Given the description of an element on the screen output the (x, y) to click on. 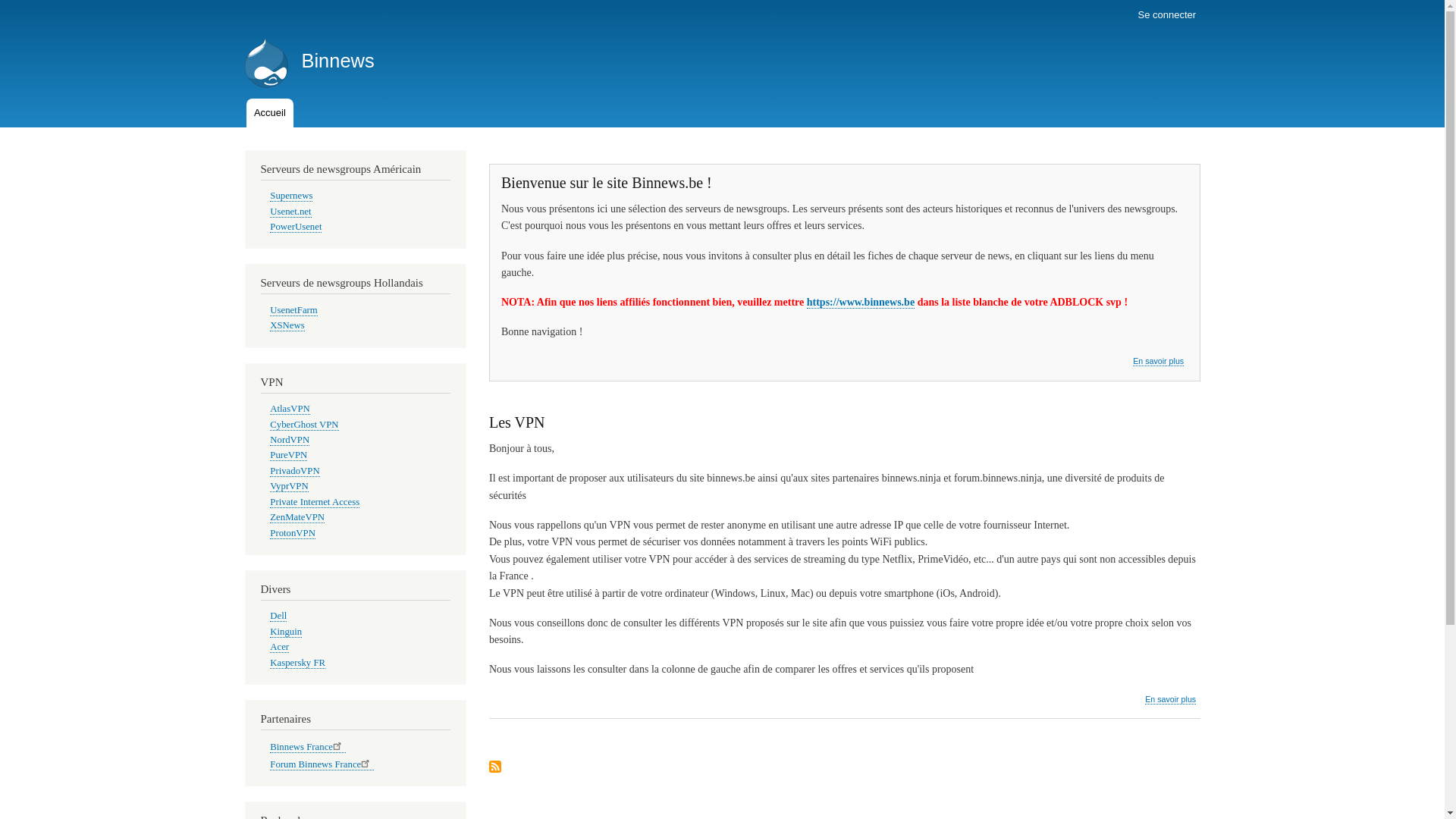
Aller au contenu principal Element type: text (722, 1)
NordVPN Element type: text (289, 439)
XSNews Element type: text (286, 325)
Forum Binnews France(le lien est externe) Element type: text (321, 764)
Binnews France(le lien est externe) Element type: text (307, 747)
Usenet.net Element type: text (289, 211)
PureVPN Element type: text (288, 455)
CyberGhost VPN Element type: text (303, 424)
Acer Element type: text (278, 646)
Kaspersky FR Element type: text (297, 662)
Private Internet Access Element type: text (314, 502)
Se connecter Element type: text (1166, 15)
PowerUsenet Element type: text (295, 226)
https://www.binnews.be Element type: text (860, 302)
ZenMateVPN Element type: text (296, 517)
Bienvenue sur le site Binnews.be ! Element type: text (606, 182)
Les VPN Element type: text (517, 422)
Dell Element type: text (277, 615)
Accueil Element type: text (269, 112)
UsenetFarm Element type: text (292, 310)
PrivadoVPN Element type: text (294, 470)
Kinguin Element type: text (285, 631)
VyprVPN Element type: text (288, 486)
En savoir plus
sur Les VPN Element type: text (1170, 699)
AtlasVPN Element type: text (289, 408)
Binnews Element type: text (337, 60)
Supernews Element type: text (290, 195)
En savoir plus
sur Bienvenue sur le site Binnews.be ! Element type: text (1157, 361)
ProtonVPN Element type: text (292, 533)
